Given the description of an element on the screen output the (x, y) to click on. 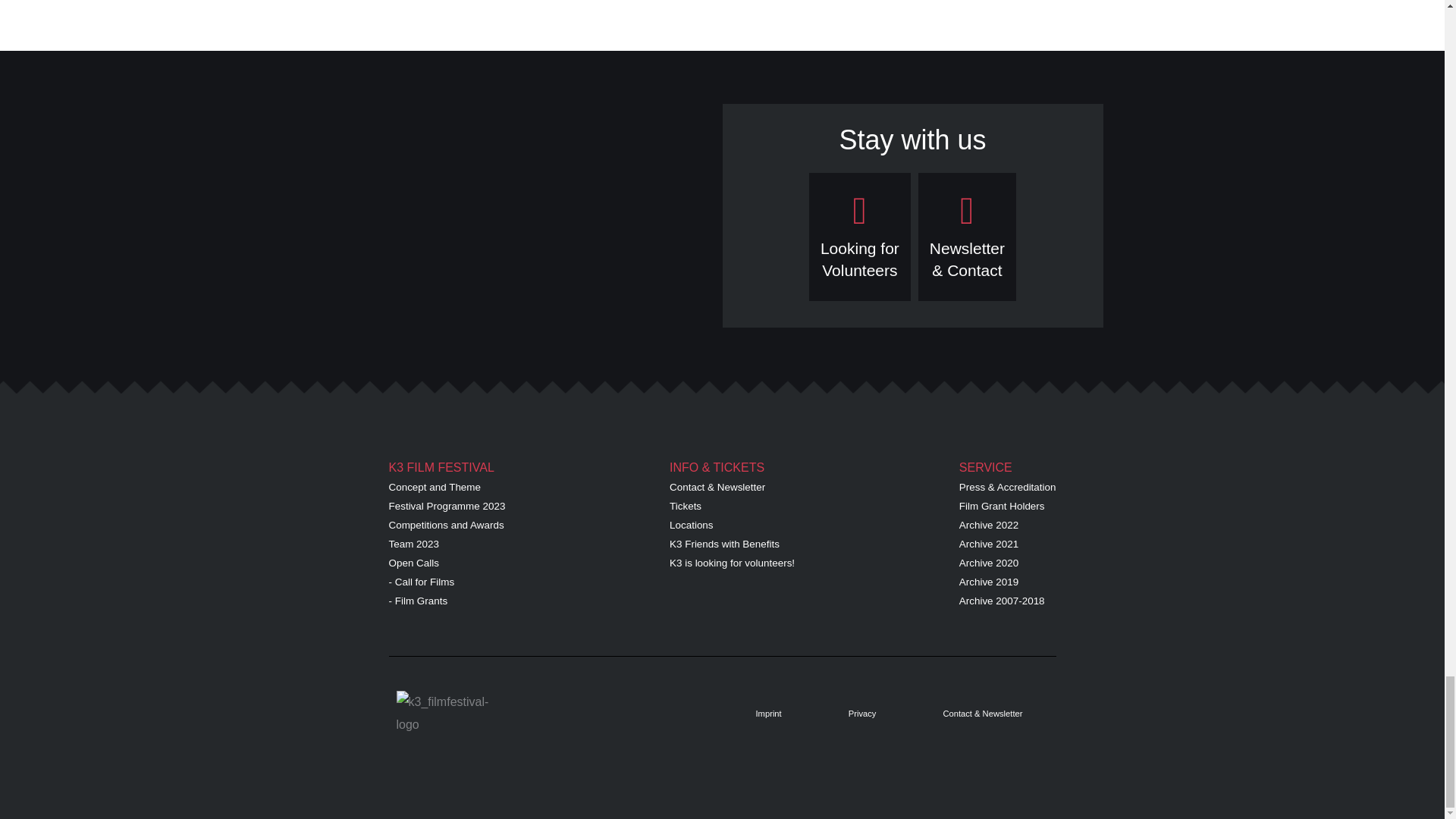
Competitions and Awards (445, 524)
Open Calls (413, 562)
K3 FILM FESTIVAL (440, 467)
Festival Programme 2023 (446, 505)
Team 2023 (860, 259)
Concept and Theme (413, 543)
